Given the description of an element on the screen output the (x, y) to click on. 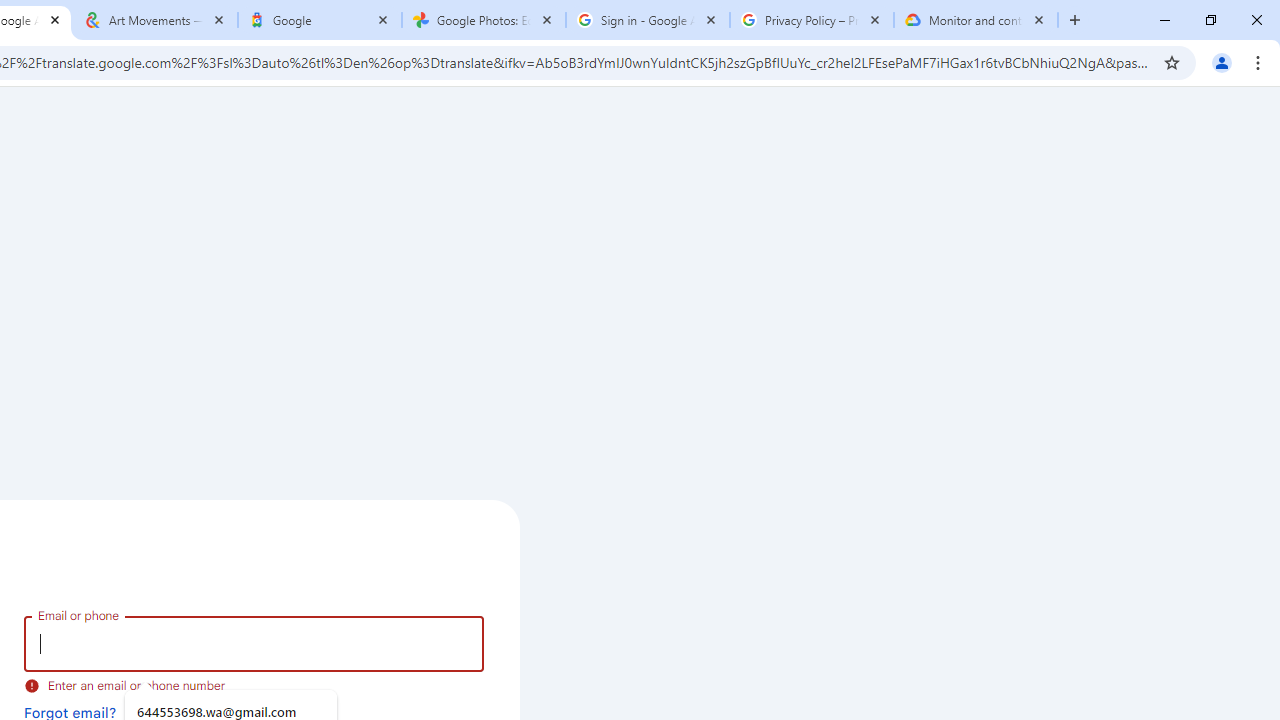
Sign in - Google Accounts (647, 20)
Email or phone (253, 643)
Google (319, 20)
